Given the description of an element on the screen output the (x, y) to click on. 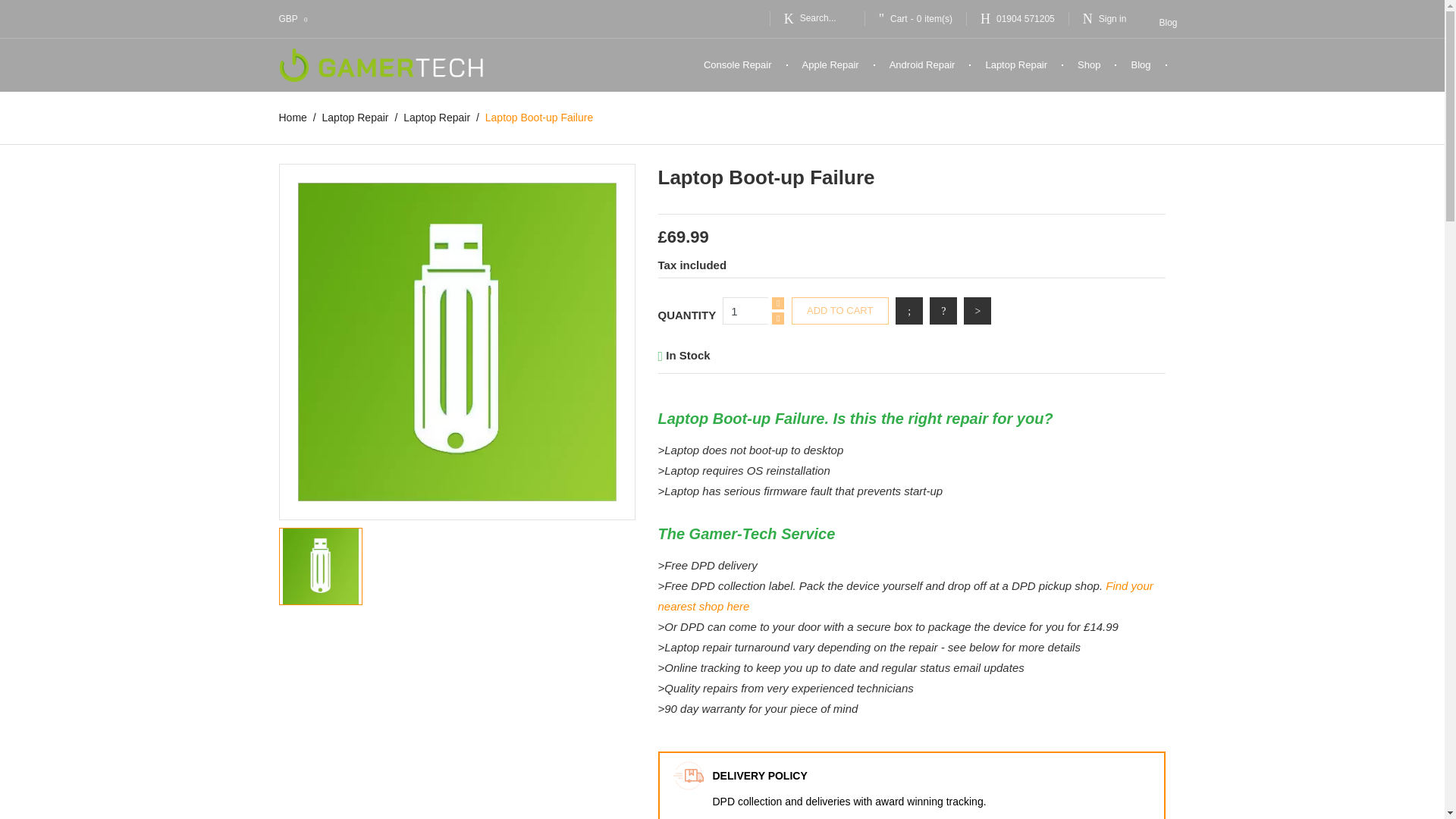
Pinterest (977, 310)
01904 571205 (1017, 18)
1 (745, 310)
Contact us (1017, 18)
Laptop Boot-up Failure (320, 566)
Share (909, 310)
Console Repair (737, 64)
Apple Repair (831, 64)
Laptop Boot-up Failure (456, 341)
Blog (1167, 22)
